Given the description of an element on the screen output the (x, y) to click on. 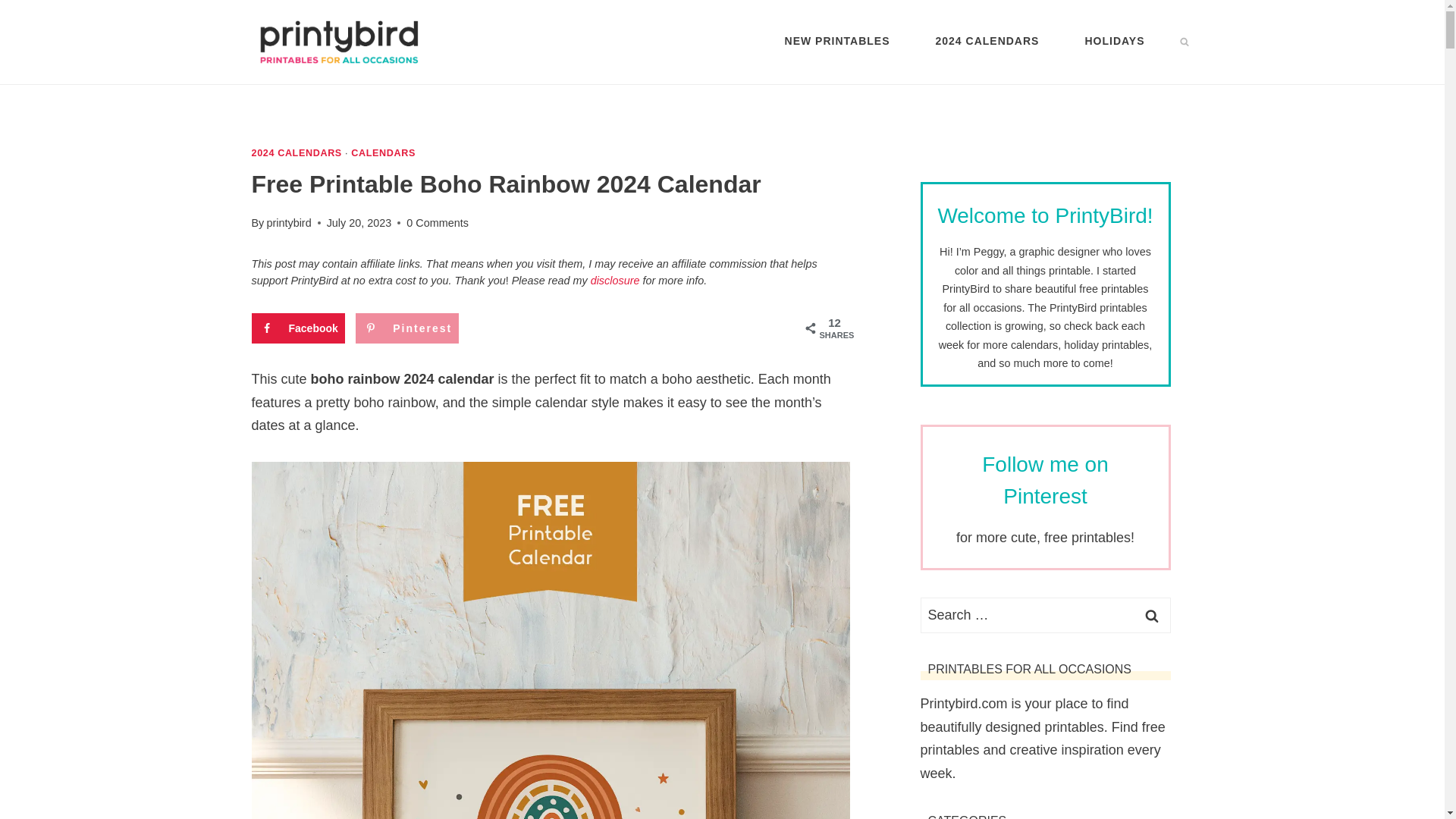
2024 CALENDARS (987, 41)
Share on Facebook (298, 327)
Search (1151, 615)
Pinterest (406, 327)
CALENDARS (382, 153)
printybird (288, 223)
HOLIDAYS (1114, 41)
0 Comments (437, 222)
0 Comments (437, 222)
NEW PRINTABLES (836, 41)
